Given the description of an element on the screen output the (x, y) to click on. 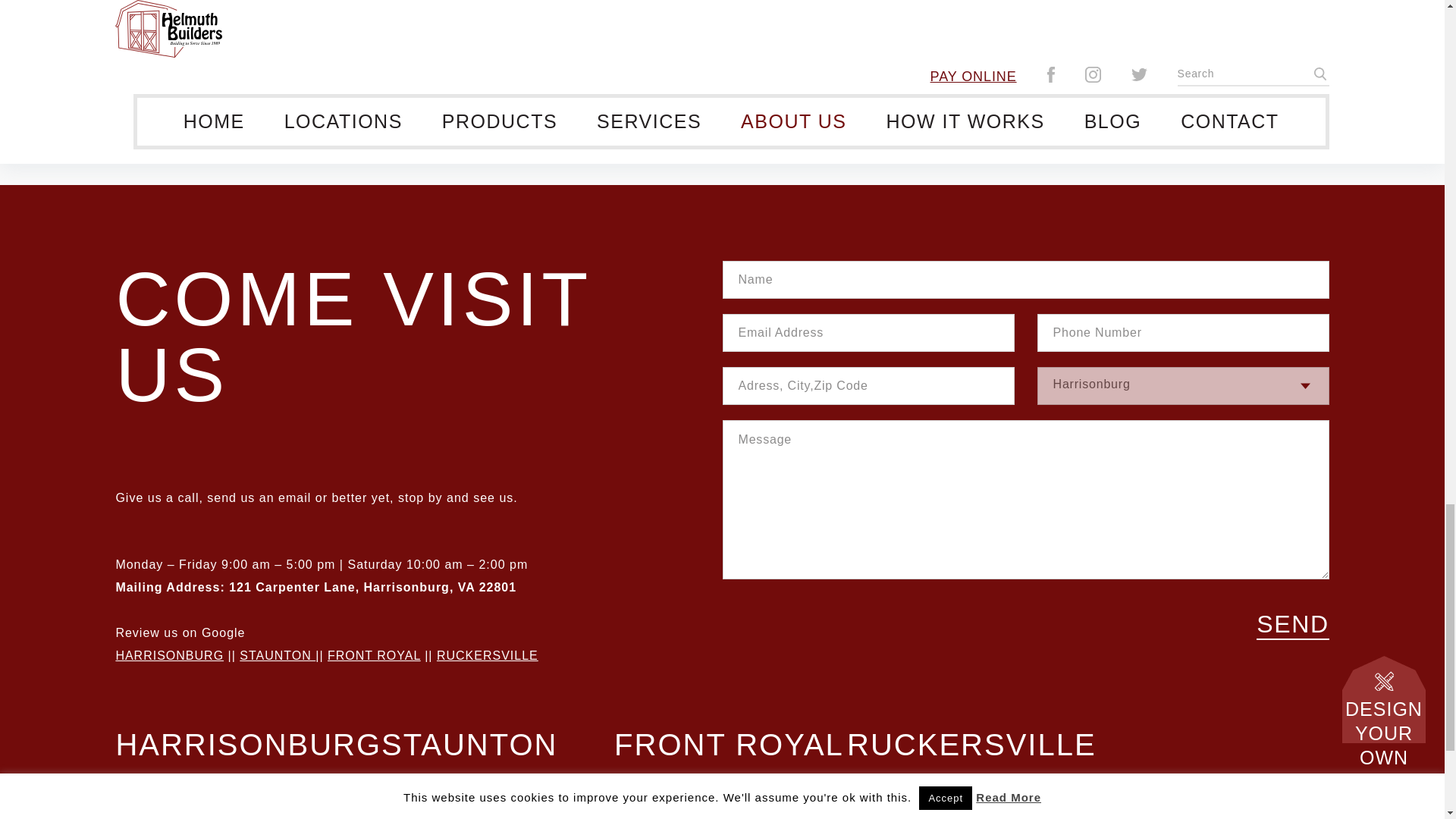
SEND (1291, 624)
